Given the description of an element on the screen output the (x, y) to click on. 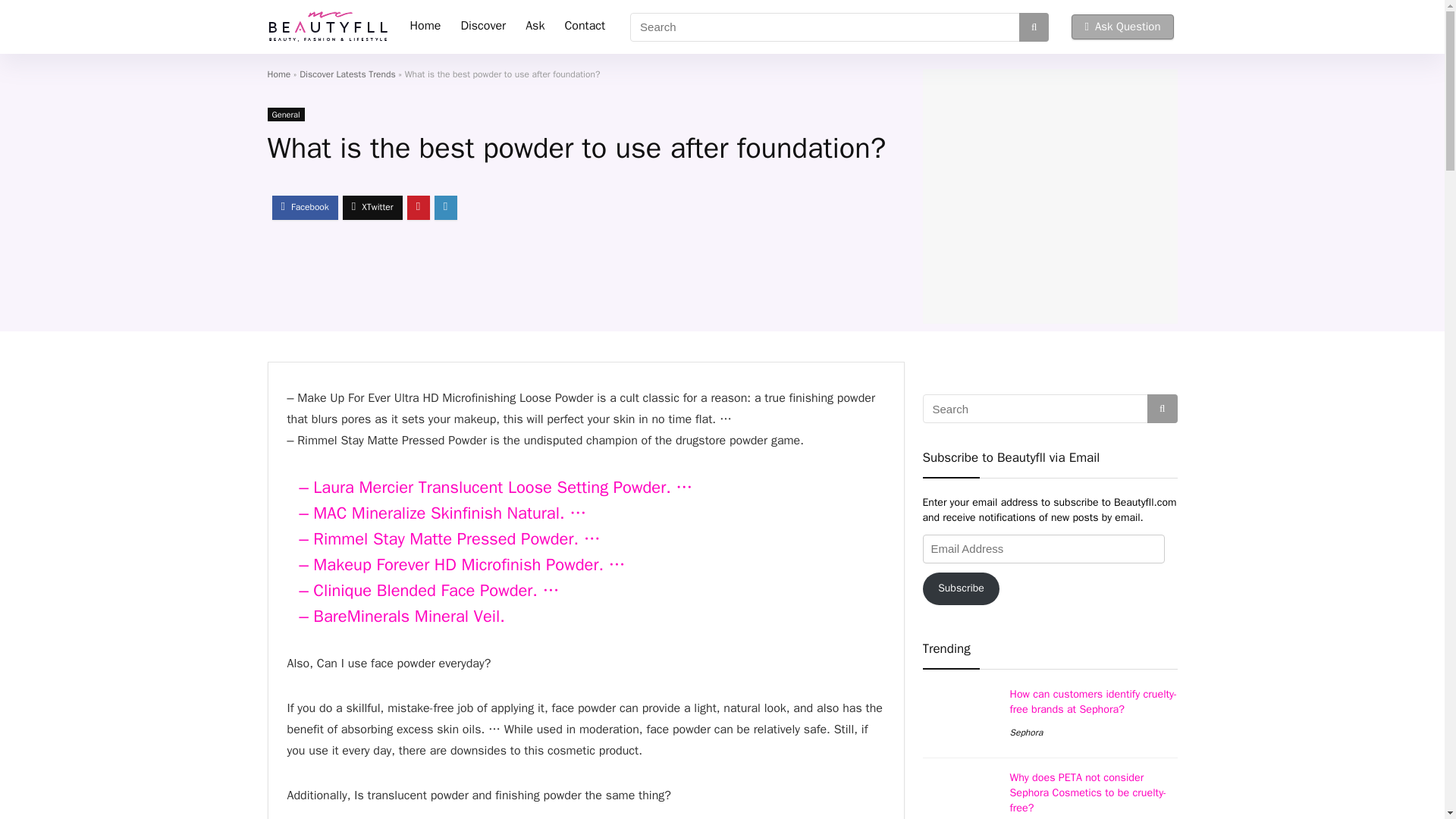
General (285, 114)
Contact (584, 26)
Home (277, 73)
Ask (534, 26)
How can customers identify cruelty-free brands at Sephora? (1093, 701)
Subscribe (959, 588)
Sephora (1026, 732)
Ask Question (1122, 26)
View all posts in General (285, 114)
Home (425, 26)
Discover (482, 26)
Discover Latests Trends (347, 73)
